Given the description of an element on the screen output the (x, y) to click on. 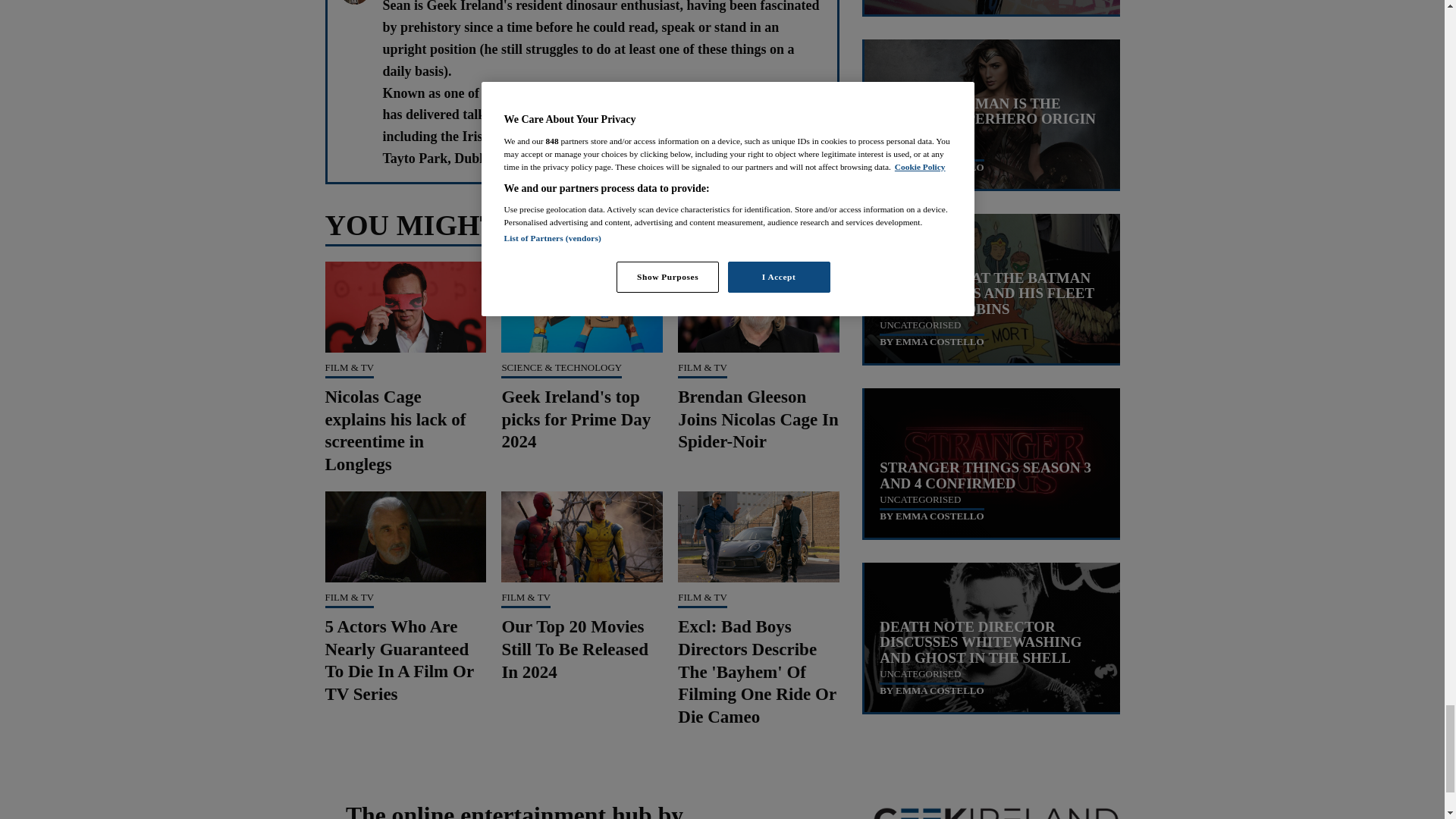
Nicolas Cage explains his lack of screentime in Longlegs (394, 431)
Our Top 20 Movies Still To Be Released In 2024 (573, 649)
Brendan Gleeson Joins Nicolas Cage In Spider-Noir (758, 419)
Geek Ireland's top picks for Prime Day 2024 (575, 419)
